Given the description of an element on the screen output the (x, y) to click on. 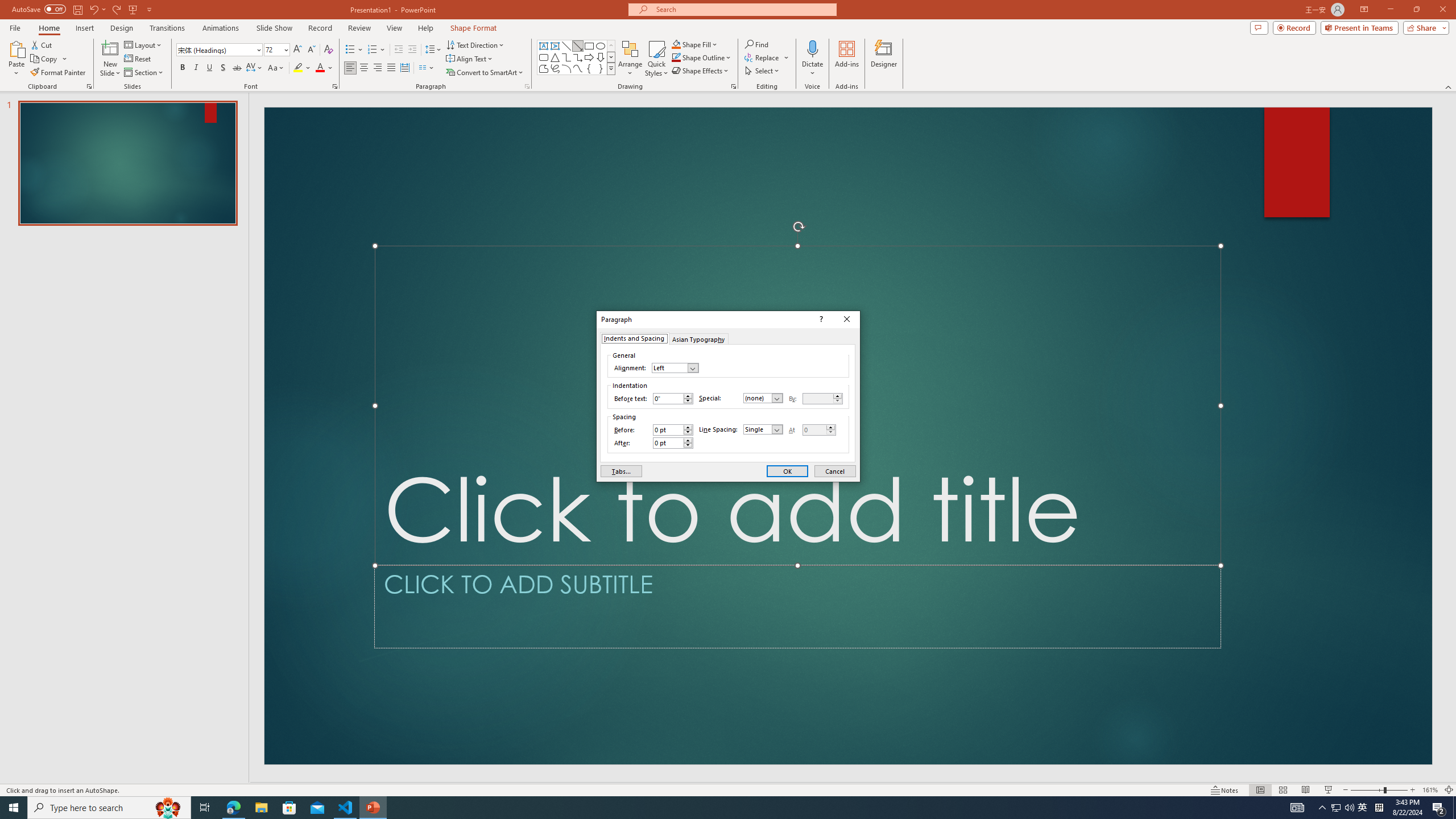
Before (667, 429)
OK (786, 470)
